Given the description of an element on the screen output the (x, y) to click on. 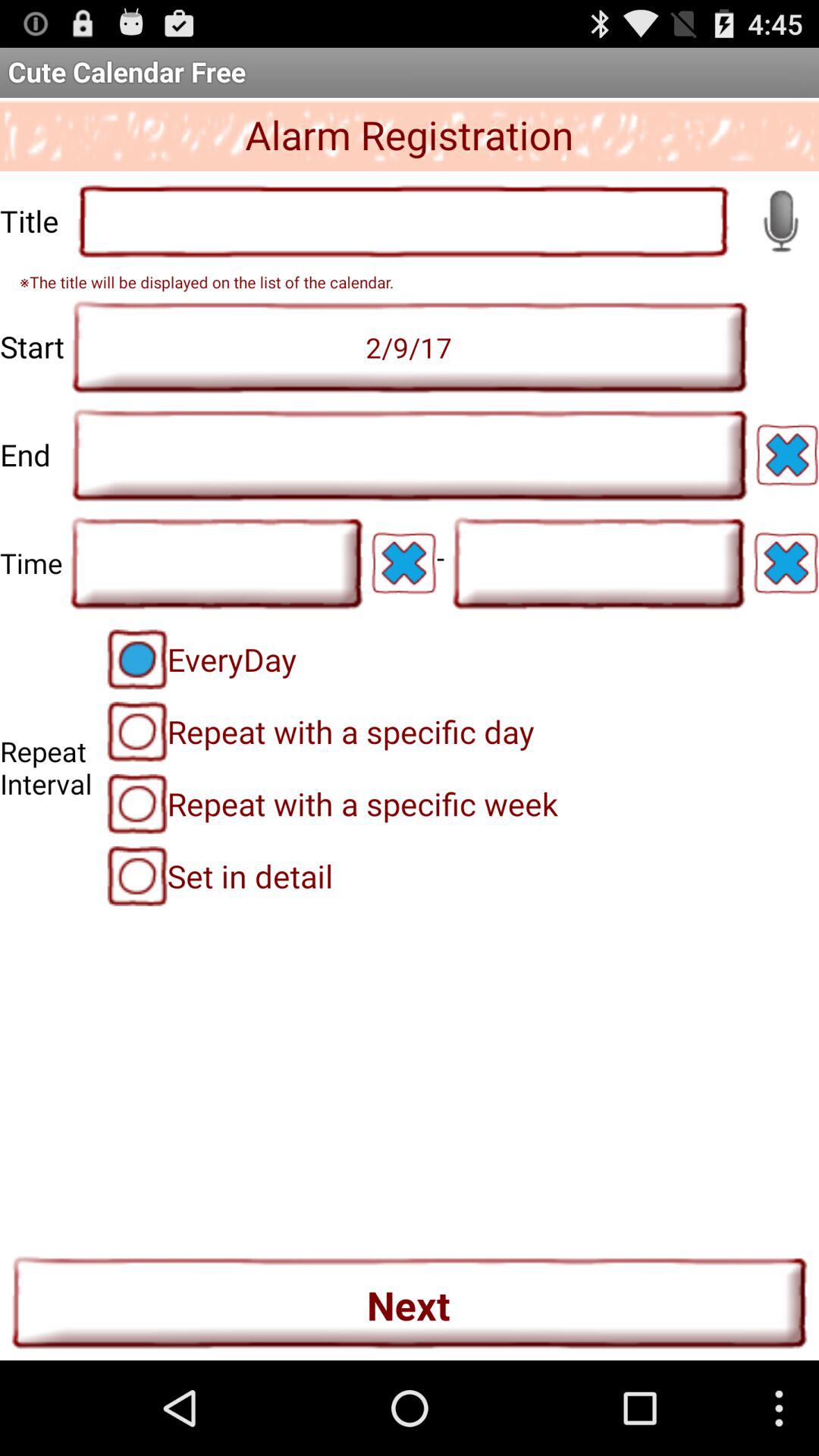
voice input (780, 221)
